Given the description of an element on the screen output the (x, y) to click on. 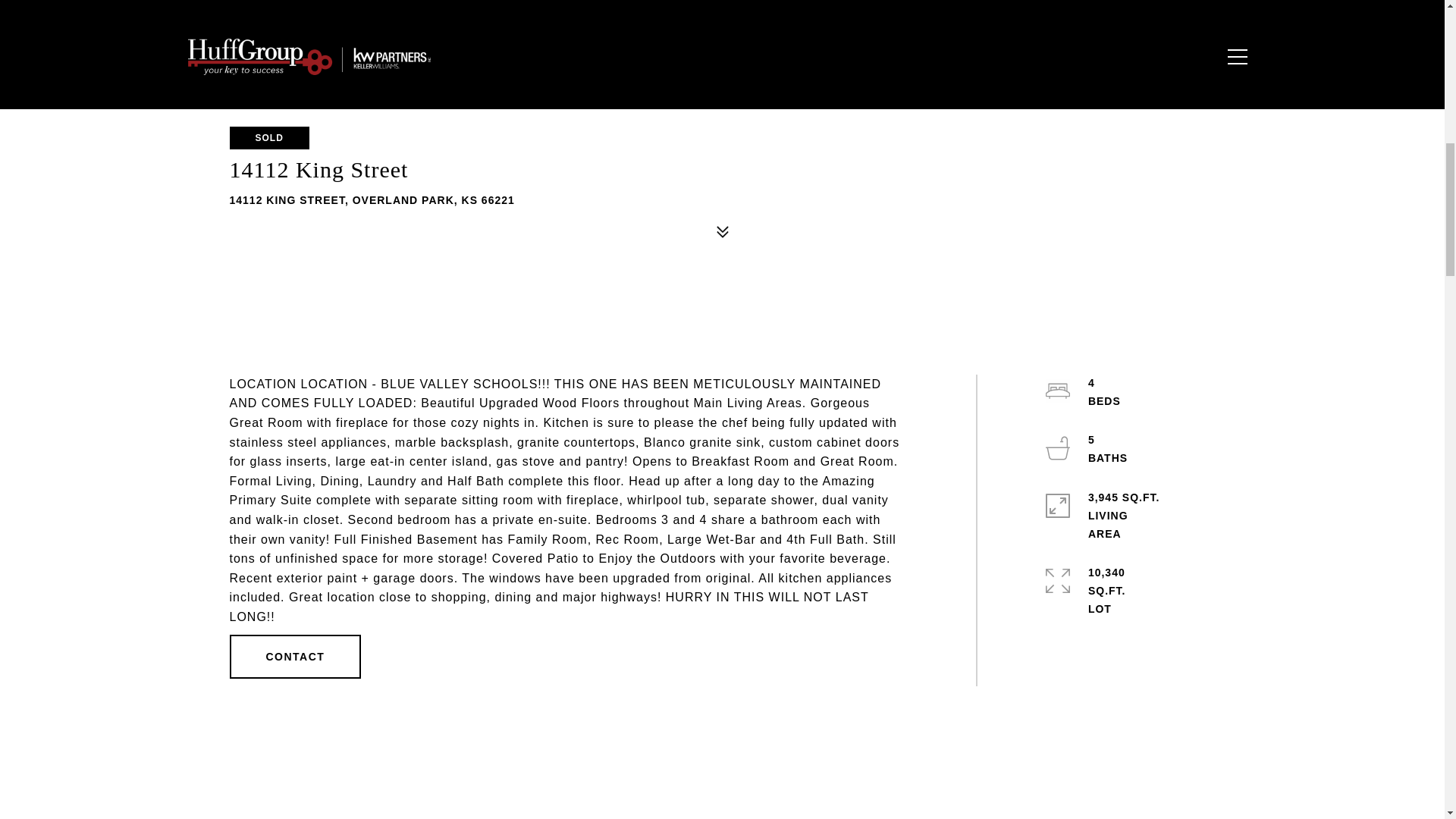
CONTACT (294, 656)
